Given the description of an element on the screen output the (x, y) to click on. 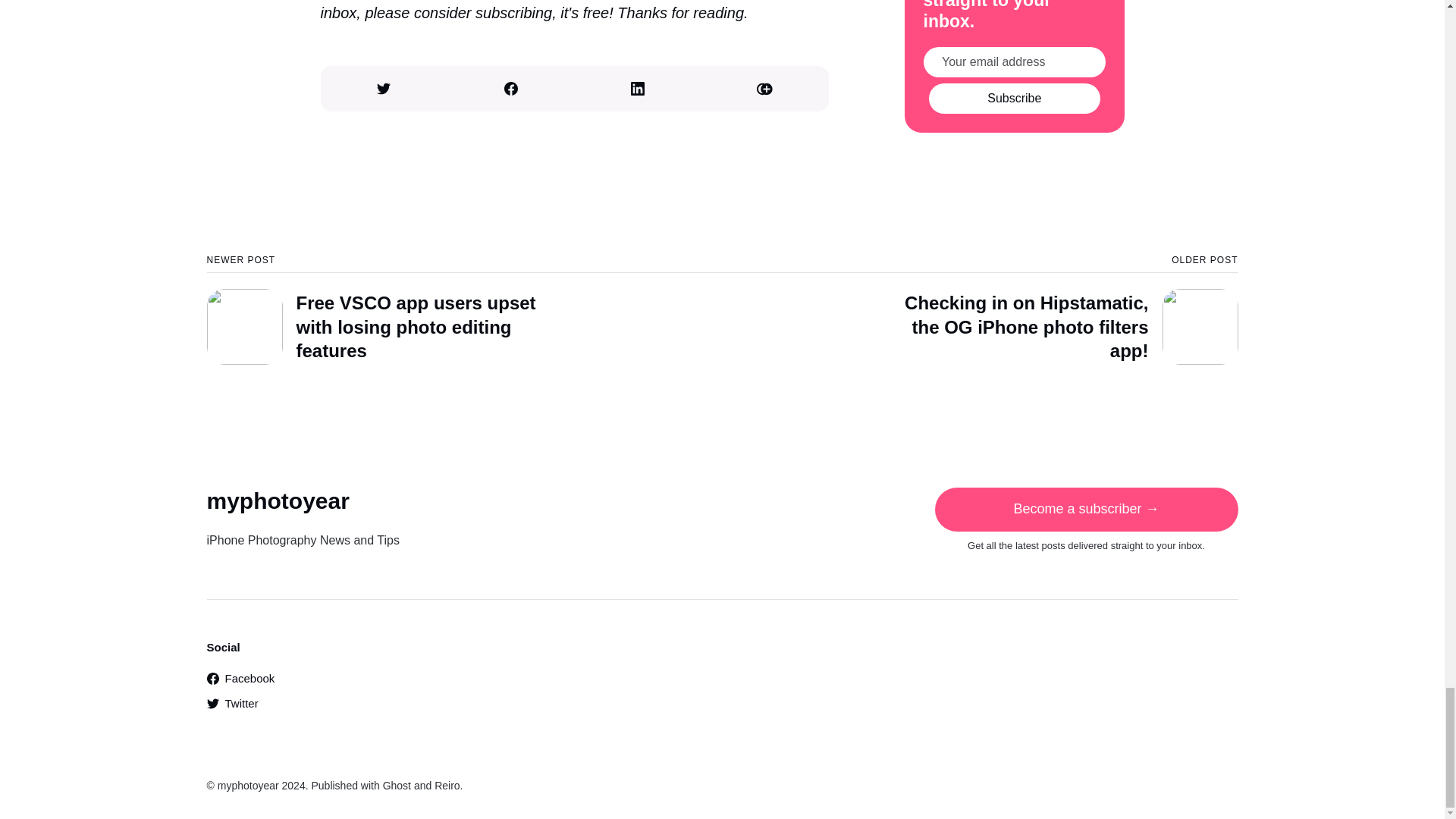
Twitter (231, 703)
myphotoyear (247, 785)
myphotoyear (277, 501)
Facebook (240, 677)
Ghost (396, 785)
Reiro (446, 785)
